Given the description of an element on the screen output the (x, y) to click on. 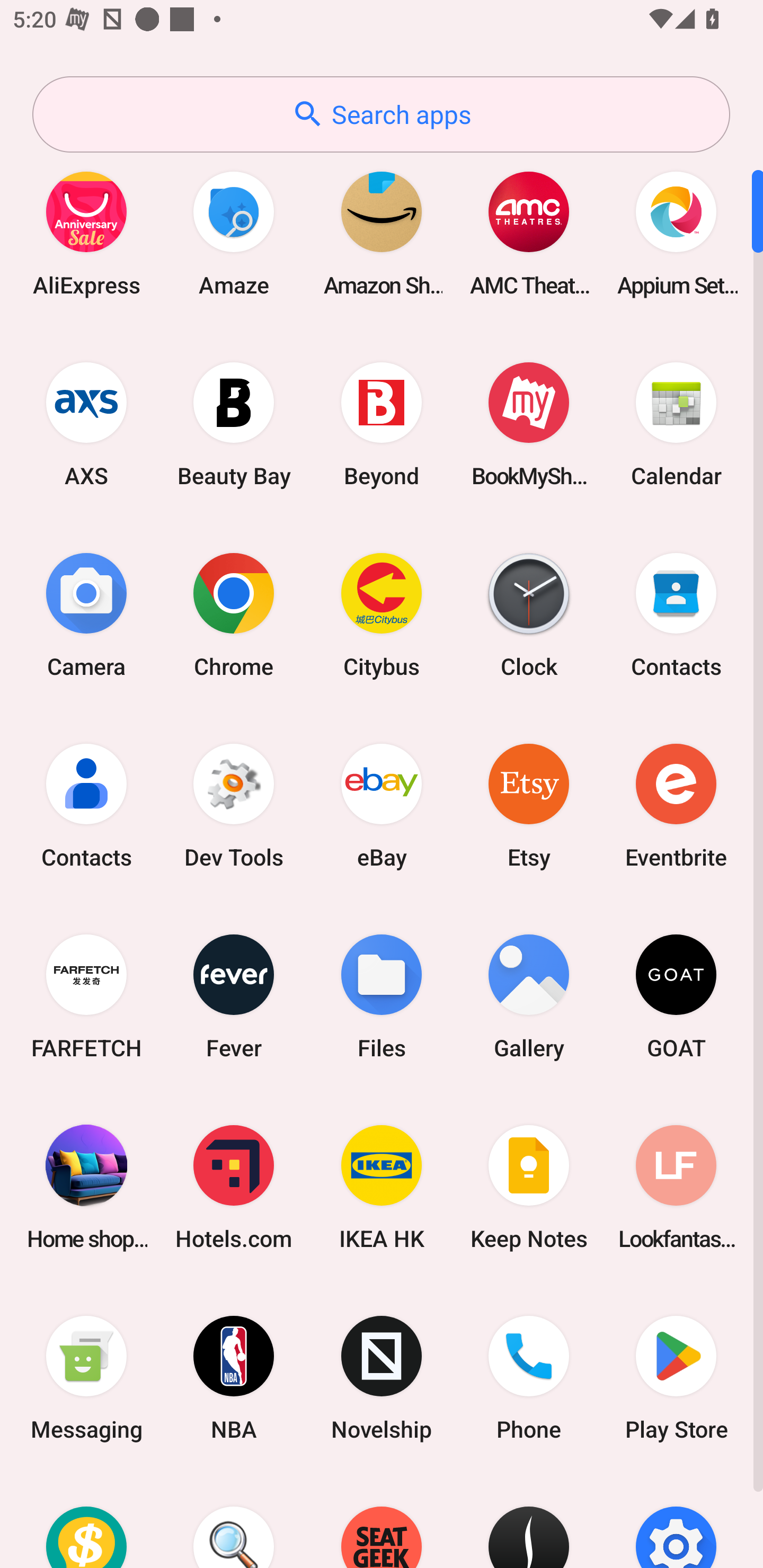
  Search apps (381, 114)
AliExpress (86, 233)
Amaze (233, 233)
Amazon Shopping (381, 233)
AMC Theatres (528, 233)
Appium Settings (676, 233)
AXS (86, 424)
Beauty Bay (233, 424)
Beyond (381, 424)
BookMyShow (528, 424)
Calendar (676, 424)
Camera (86, 614)
Chrome (233, 614)
Citybus (381, 614)
Clock (528, 614)
Contacts (676, 614)
Contacts (86, 805)
Dev Tools (233, 805)
eBay (381, 805)
Etsy (528, 805)
Eventbrite (676, 805)
FARFETCH (86, 996)
Fever (233, 996)
Files (381, 996)
Gallery (528, 996)
GOAT (676, 996)
Home shopping (86, 1186)
Hotels.com (233, 1186)
IKEA HK (381, 1186)
Keep Notes (528, 1186)
Lookfantastic (676, 1186)
Messaging (86, 1377)
NBA (233, 1377)
Novelship (381, 1377)
Phone (528, 1377)
Play Store (676, 1377)
Price (86, 1520)
Search (233, 1520)
SeatGeek (381, 1520)
Sephora (528, 1520)
Settings (676, 1520)
